Given the description of an element on the screen output the (x, y) to click on. 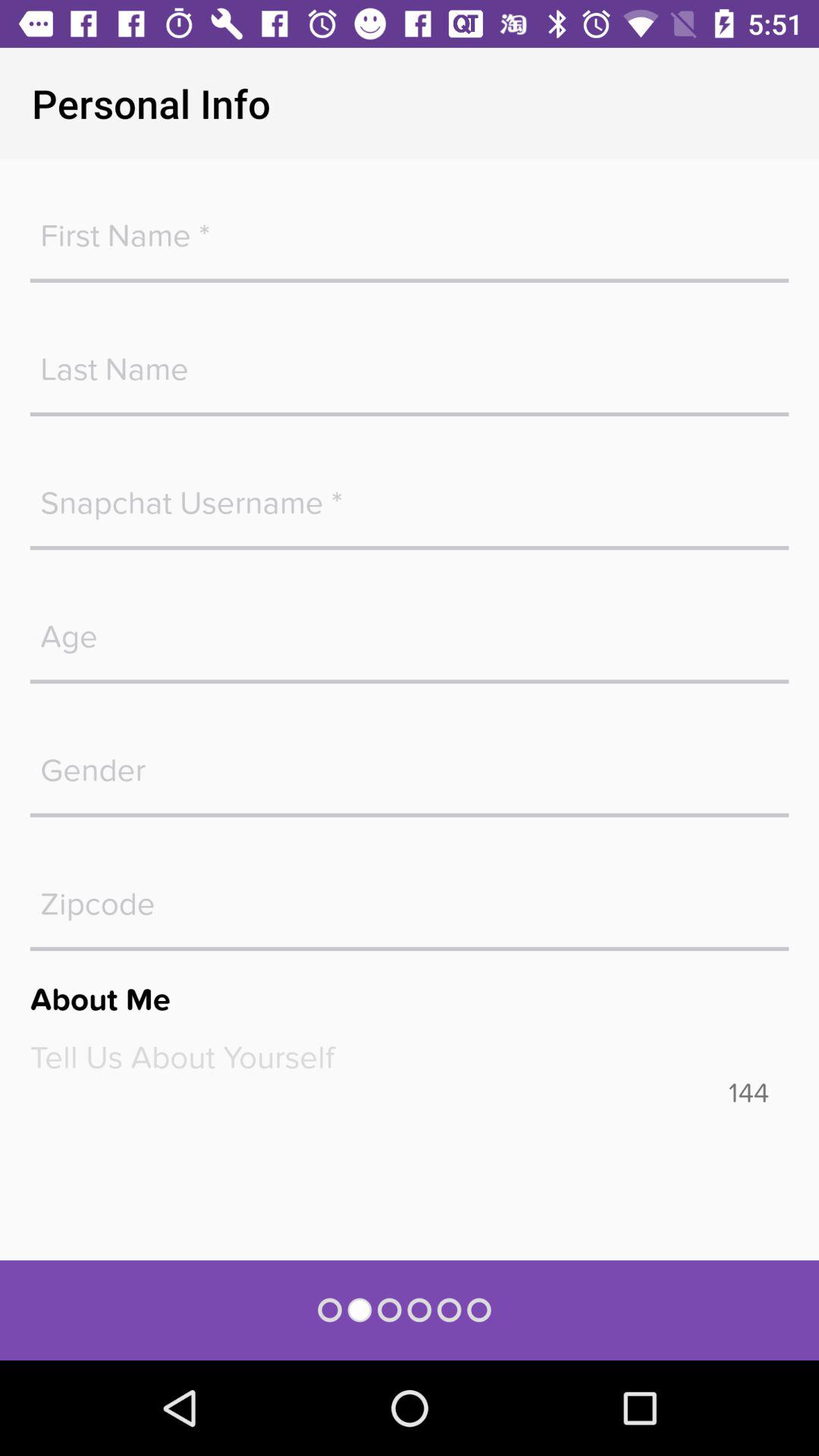
open a keyboard (409, 895)
